Given the description of an element on the screen output the (x, y) to click on. 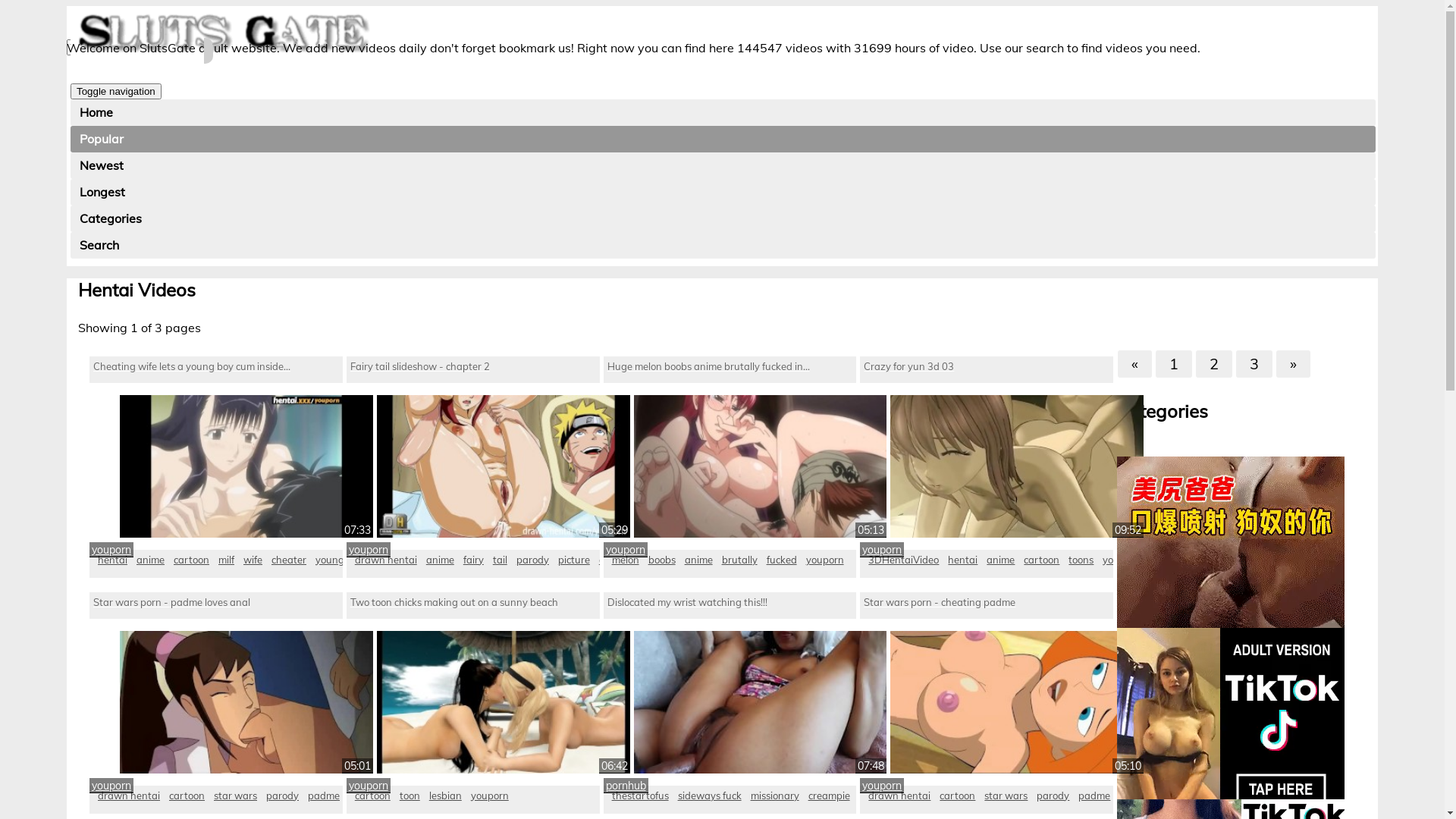
brutally Element type: text (739, 559)
milf Element type: text (226, 559)
Newest Element type: text (722, 165)
3DHentaiVideo Element type: text (903, 559)
Huge melon boobs anime brutally fucked in...
05:13 Element type: text (729, 446)
youporn Element type: text (625, 549)
parody Element type: text (1052, 795)
drawn hentai Element type: text (128, 795)
cartoon Element type: text (1041, 559)
star wars Element type: text (1005, 795)
Star wars porn - cheating padme
05:10 Element type: text (986, 682)
youporn Element type: text (111, 785)
hentai Element type: text (962, 559)
youporn Element type: text (111, 549)
1 Element type: text (1173, 364)
youporn Element type: text (824, 559)
toon Element type: text (409, 795)
pornhub Element type: text (625, 785)
Popular Element type: text (722, 138)
hentai Element type: text (112, 559)
cheater Element type: text (288, 559)
Fairy tail slideshow - chapter 2
05:29 Element type: text (472, 446)
youporn Element type: text (881, 785)
Star wars porn - padme loves anal
05:01 Element type: text (215, 682)
padme Element type: text (1094, 795)
missionary Element type: text (774, 795)
sideways fuck Element type: text (709, 795)
boobs Element type: text (661, 559)
Cheating wife lets a young boy cum inside...
07:33 Element type: text (215, 446)
young Element type: text (329, 559)
cartoon Element type: text (191, 559)
fairy Element type: text (473, 559)
Toggle navigation Element type: text (115, 91)
padme Element type: text (323, 795)
Longest Element type: text (722, 191)
melon Element type: text (625, 559)
Two toon chicks making out on a sunny beach
06:42 Element type: text (472, 682)
Crazy for yun 3d 03
09:52 Element type: text (986, 446)
creampie Element type: text (829, 795)
cartoon Element type: text (957, 795)
picture Element type: text (573, 559)
youporn Element type: text (368, 785)
thestartofus Element type: text (640, 795)
Dislocated my wrist watching this!!!
07:48 Element type: text (729, 682)
toons Element type: text (1080, 559)
lesbian Element type: text (445, 795)
parody Element type: text (532, 559)
Home Element type: text (722, 112)
parody Element type: text (282, 795)
anime Element type: text (439, 559)
youporn Element type: text (368, 549)
cartoon Element type: text (372, 795)
cartoon Element type: text (186, 795)
anime Element type: text (698, 559)
youporn Element type: text (881, 549)
youporn Element type: text (489, 795)
anime Element type: text (150, 559)
wife Element type: text (252, 559)
anime Element type: text (1000, 559)
drawn hentai Element type: text (385, 559)
drawn hentai Element type: text (899, 795)
Categories Element type: text (722, 218)
youporn Element type: text (1121, 559)
fucked Element type: text (781, 559)
Search Element type: text (722, 245)
tail Element type: text (499, 559)
compilation Element type: text (624, 559)
star wars Element type: text (235, 795)
2 Element type: text (1213, 364)
3 Element type: text (1254, 364)
